Given the description of an element on the screen output the (x, y) to click on. 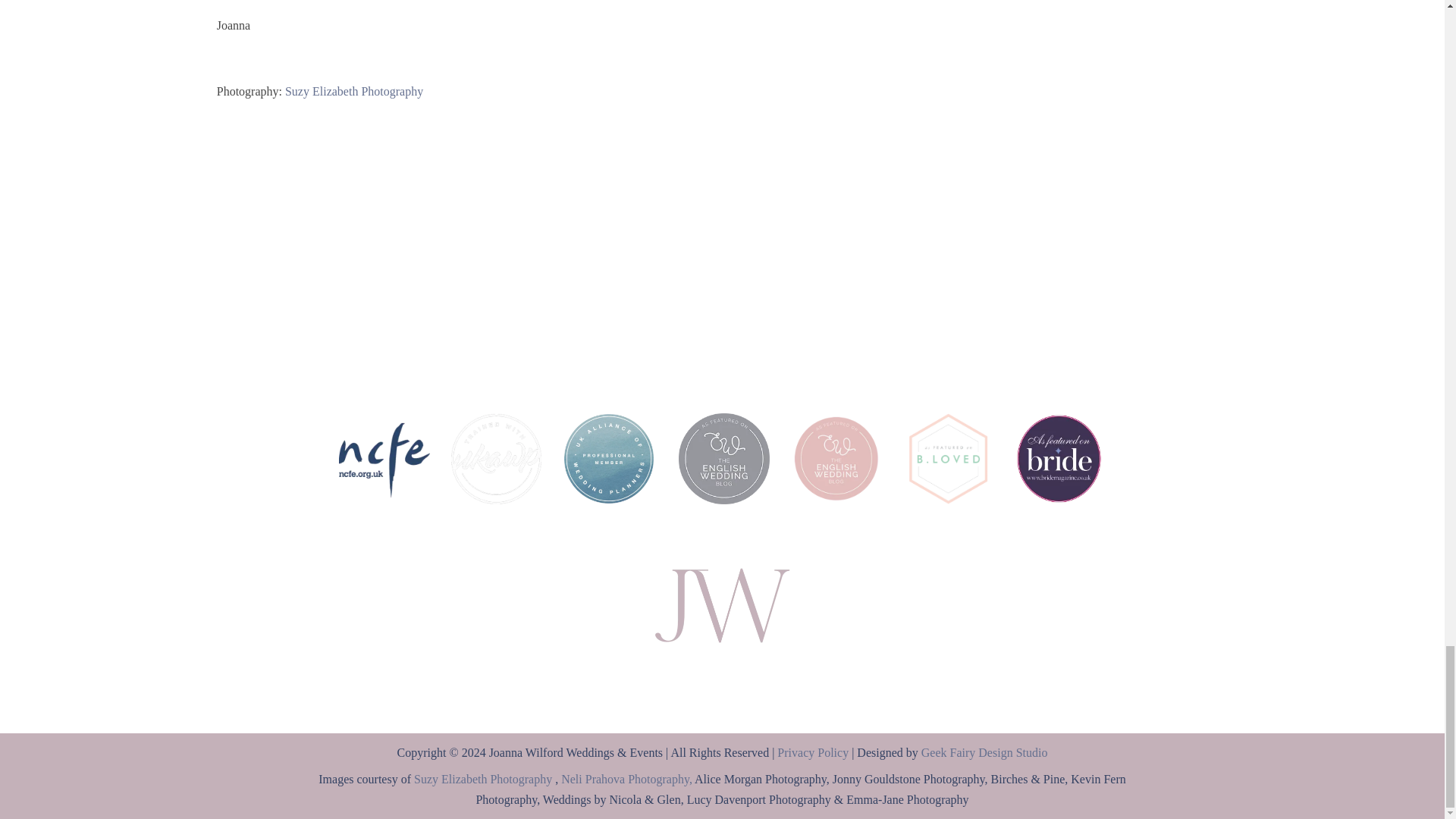
Privacy Policy (812, 752)
Follow on Facebook (691, 673)
Neli Prahova Photography, (626, 779)
The Geek Fairy (984, 752)
Suzy Elizabeth Photography (483, 779)
JOANNA WILFORD WEDDINGS (721, 605)
Follow on Pinterest (751, 673)
Geek Fairy Design Studio (984, 752)
Follow on Instagram (721, 673)
Suzy Elizabeth Photography (352, 91)
